Given the description of an element on the screen output the (x, y) to click on. 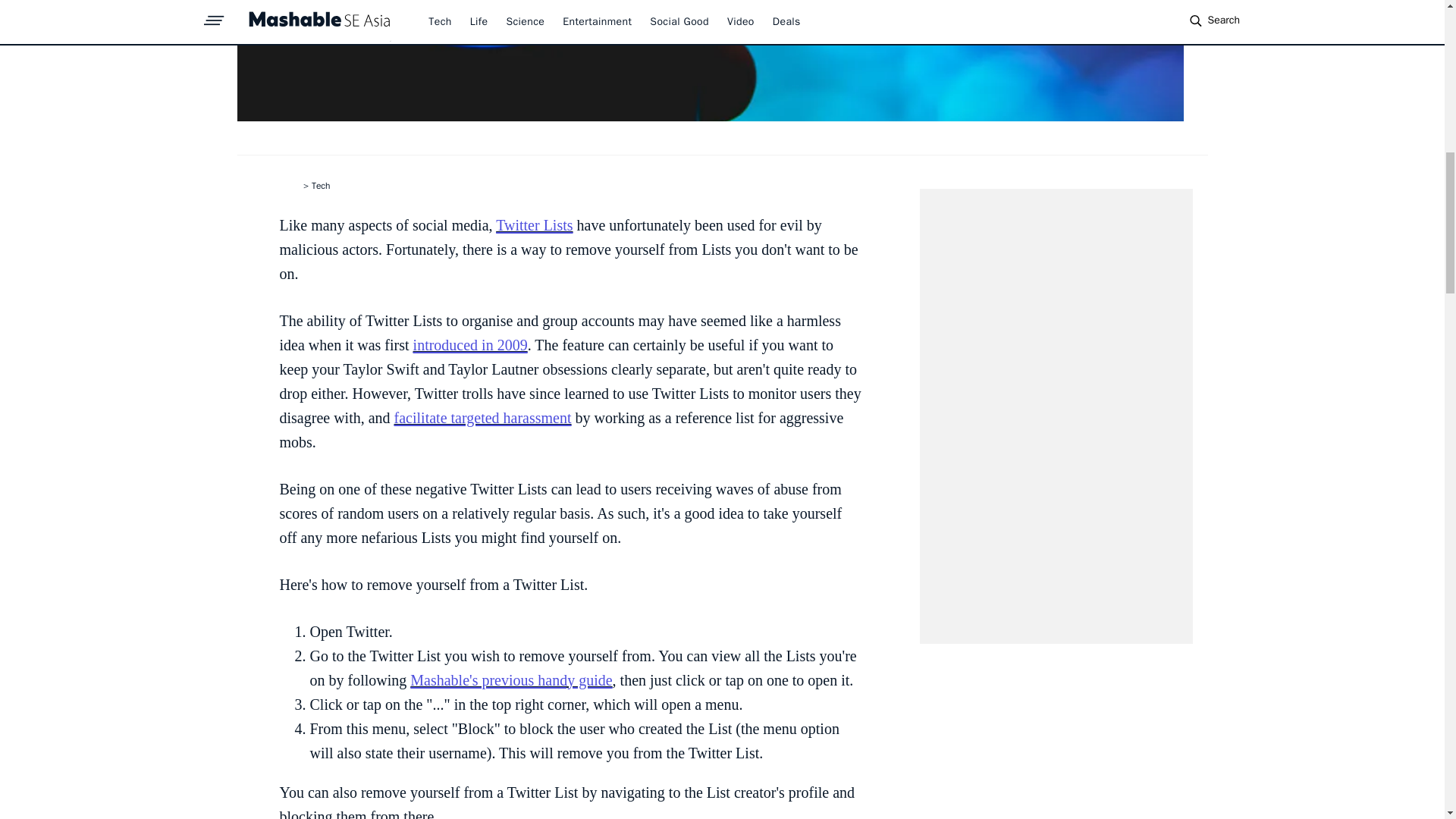
introduced in 2009 (470, 344)
Mashable's previous handy guide (510, 679)
facilitate targeted harassment (483, 417)
Twitter Lists (534, 225)
